Given the description of an element on the screen output the (x, y) to click on. 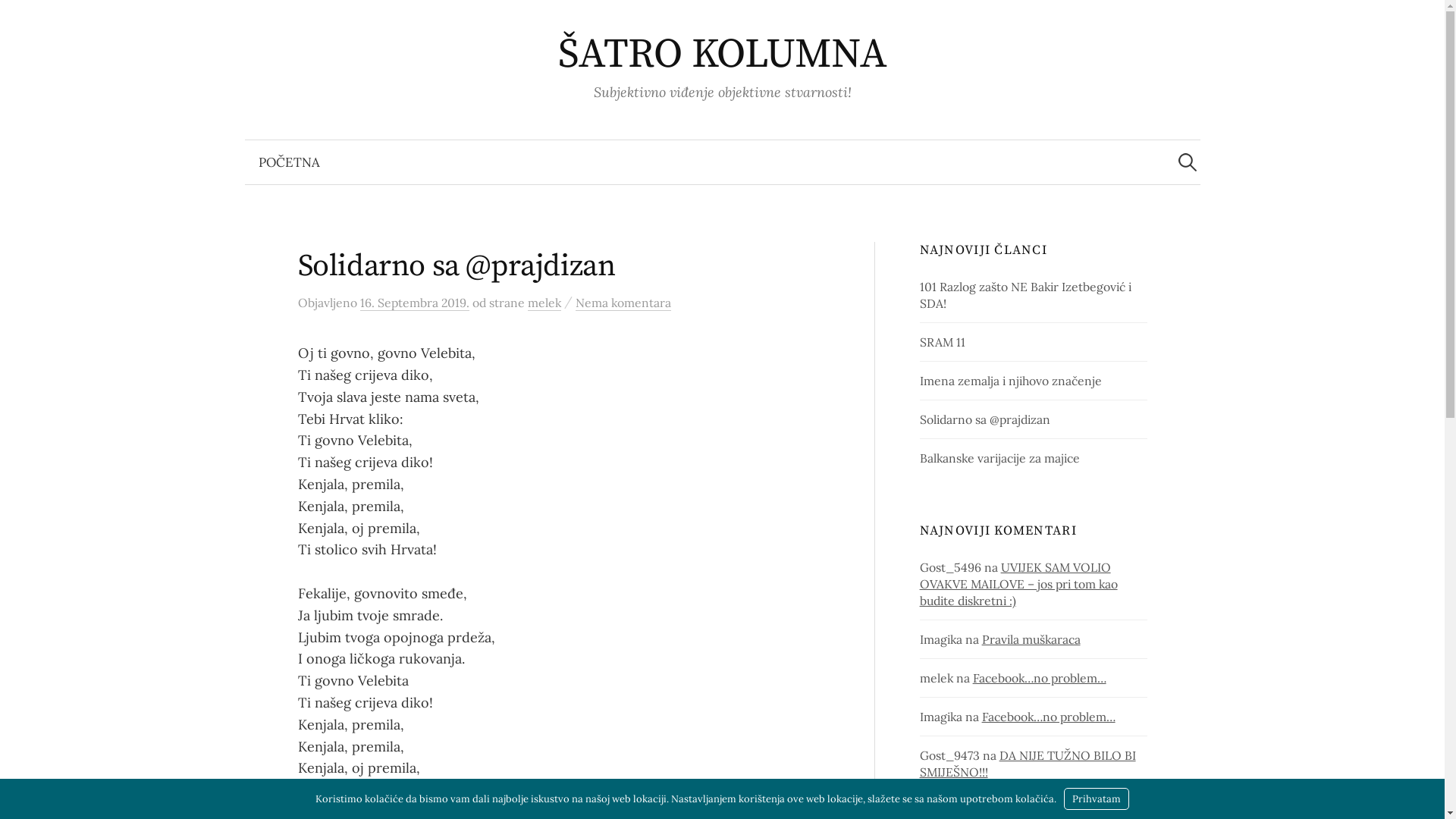
Nema komentara
na Solidarno sa @prajdizan Element type: text (622, 302)
Balkanske varijacije za majice Element type: text (999, 457)
SRAM 11 Element type: text (942, 341)
16. Septembra 2019. Element type: text (413, 302)
Prihvatam Element type: text (1096, 798)
Pretraga Element type: text (18, 18)
melek Element type: text (544, 302)
Solidarno sa @prajdizan Element type: text (984, 418)
